Given the description of an element on the screen output the (x, y) to click on. 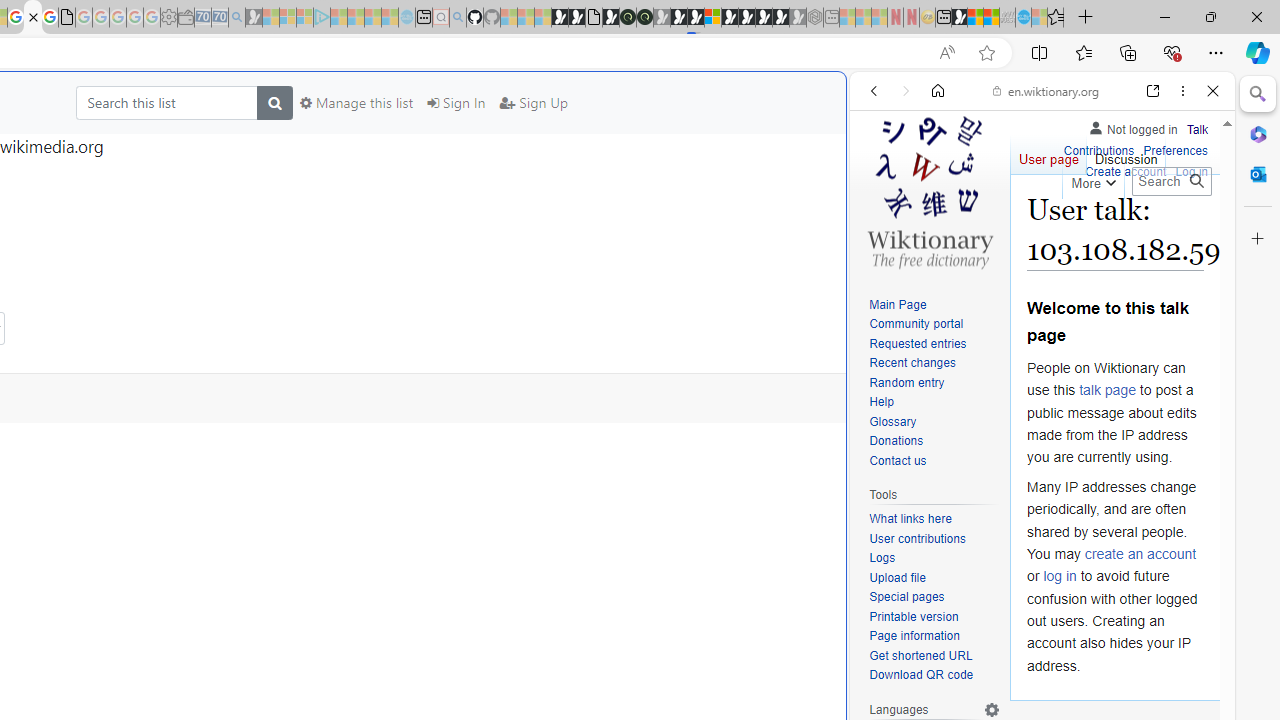
Community portal (934, 324)
en.wiktionary.org (1046, 90)
